Given the description of an element on the screen output the (x, y) to click on. 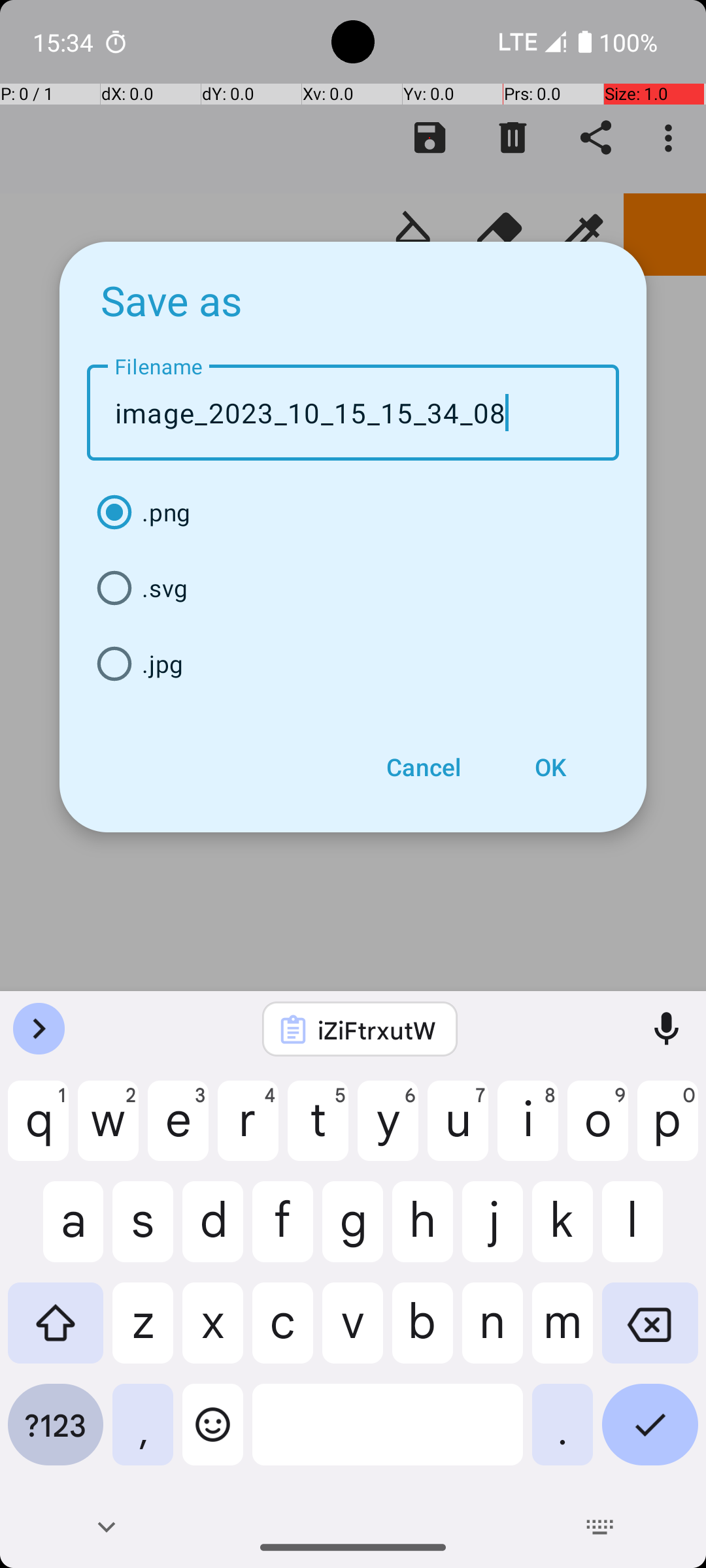
Save as Element type: android.widget.TextView (171, 299)
image_2023_10_15_15_34_08 Element type: android.widget.EditText (352, 412)
.png Element type: android.widget.RadioButton (352, 512)
.svg Element type: android.widget.RadioButton (352, 587)
.jpg Element type: android.widget.RadioButton (352, 663)
iZiFtrxutW Element type: android.widget.TextView (376, 1029)
